Given the description of an element on the screen output the (x, y) to click on. 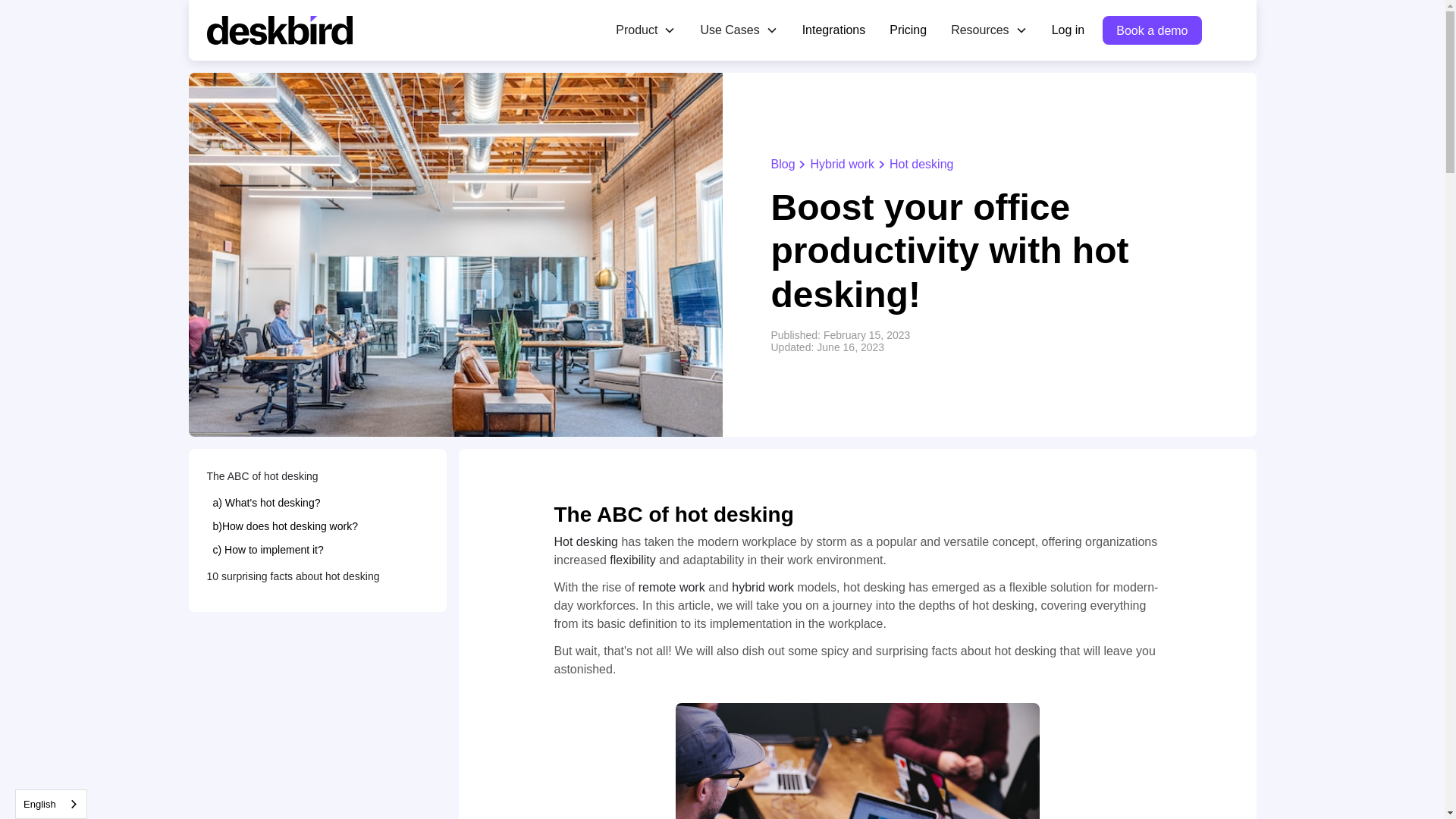
Log in (1067, 30)
Pricing (907, 30)
Book a demo (1151, 30)
Integrations (834, 30)
